Given the description of an element on the screen output the (x, y) to click on. 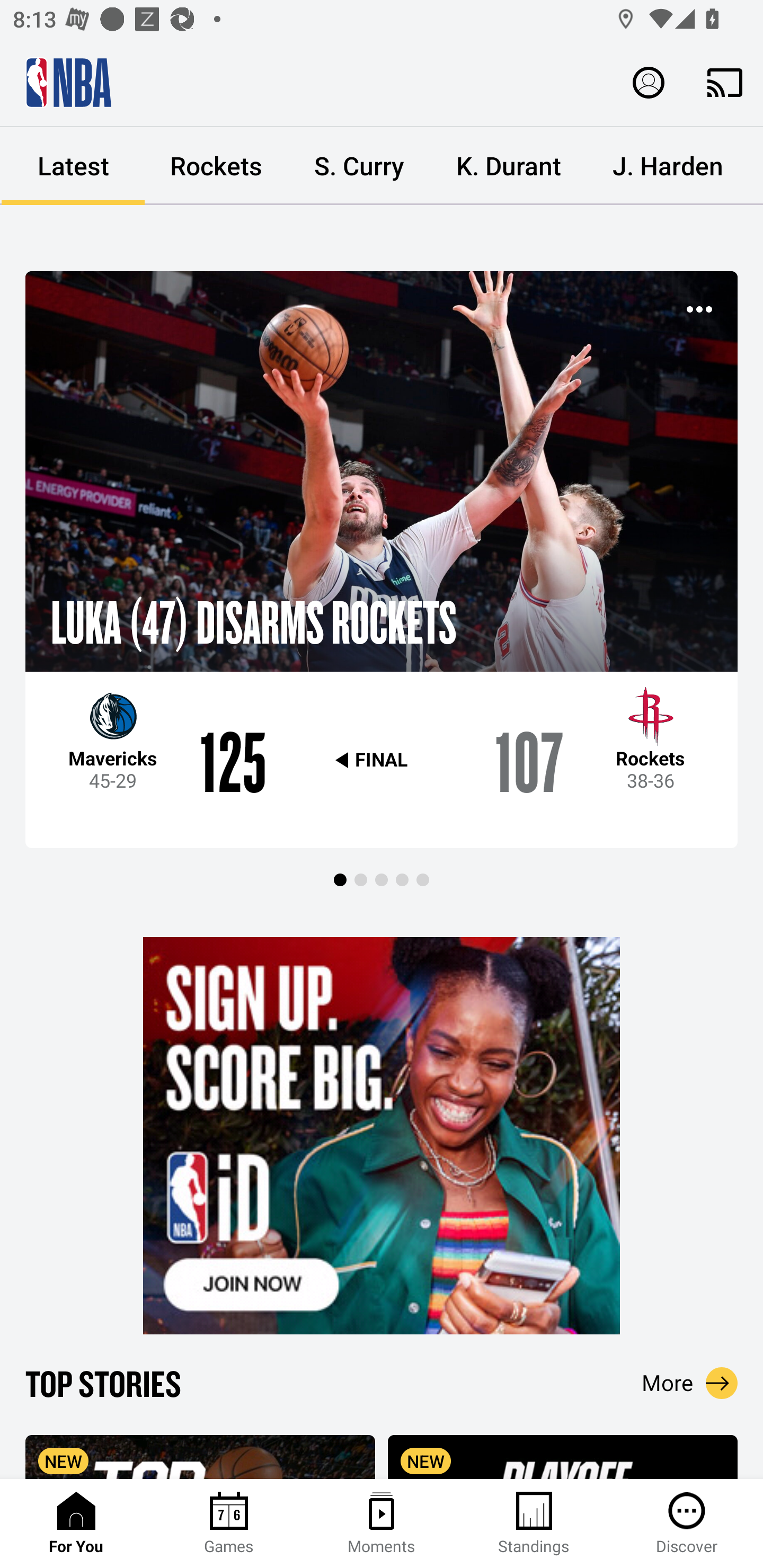
Cast. Disconnected (724, 82)
Profile (648, 81)
Rockets (215, 166)
S. Curry (359, 166)
K. Durant (508, 166)
J. Harden (667, 166)
g5nqqygr7owph (381, 1135)
More (689, 1382)
Games (228, 1523)
Moments (381, 1523)
Standings (533, 1523)
Discover (686, 1523)
